Given the description of an element on the screen output the (x, y) to click on. 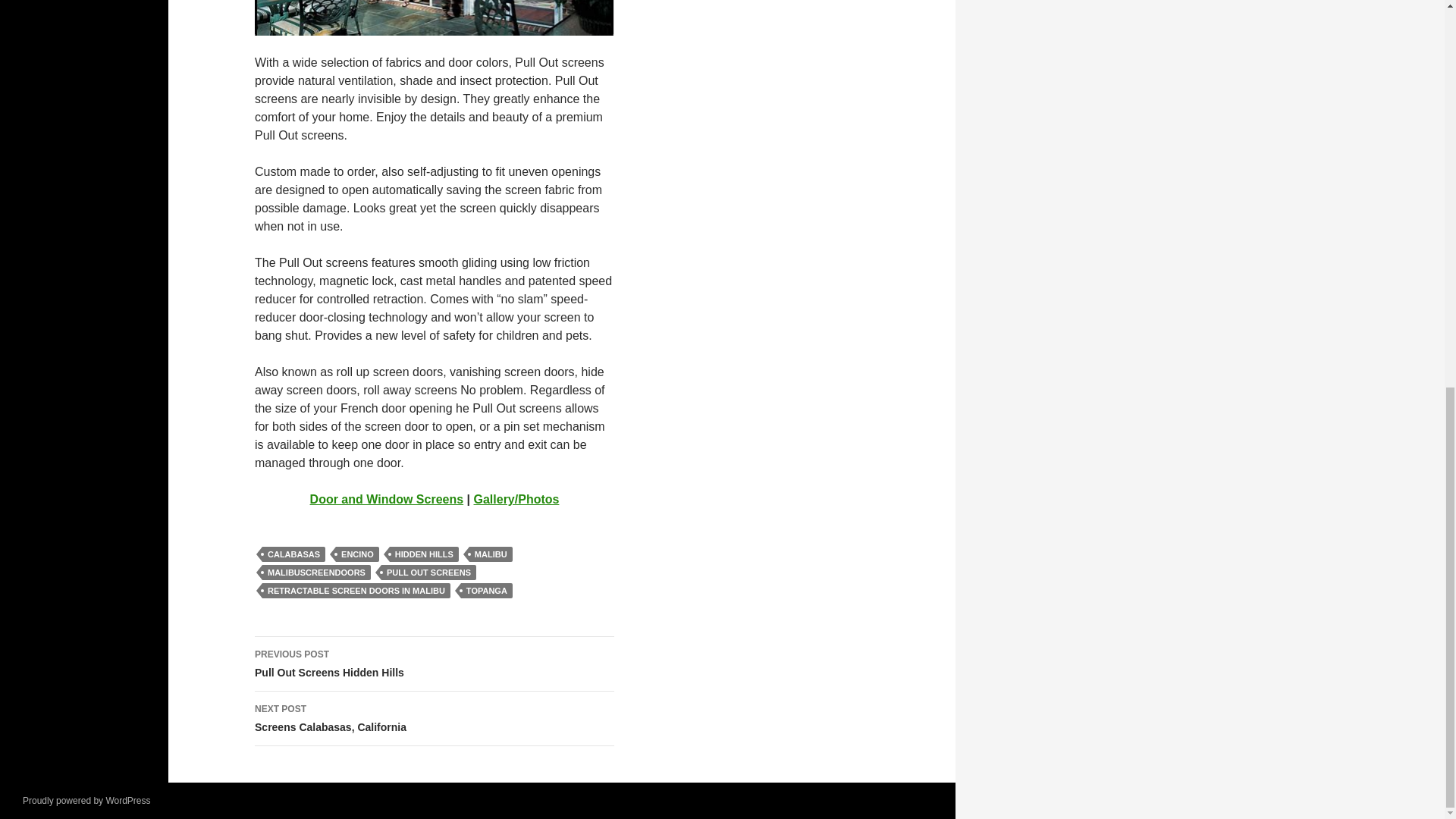
MALIBUSCREENDOORS (316, 572)
MALIBU (490, 554)
ENCINO (434, 718)
Door and Window Screens (357, 554)
CALABASAS (387, 499)
PULL OUT SCREENS (293, 554)
HIDDEN HILLS (434, 664)
TOPANGA (428, 572)
RETRACTABLE SCREEN DOORS IN MALIBU (424, 554)
Proudly powered by WordPress (486, 590)
